Given the description of an element on the screen output the (x, y) to click on. 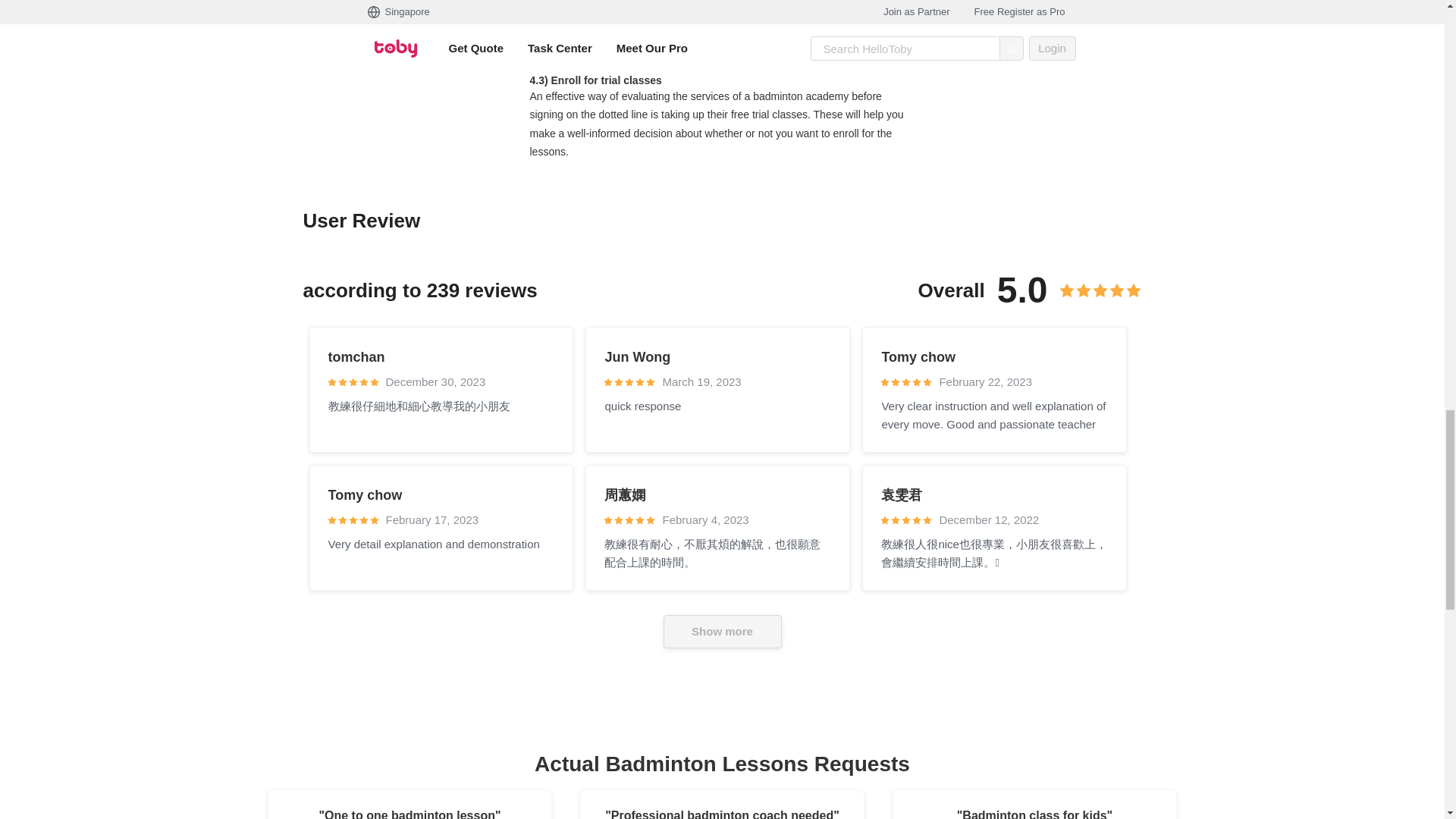
Show more (721, 631)
